Given the description of an element on the screen output the (x, y) to click on. 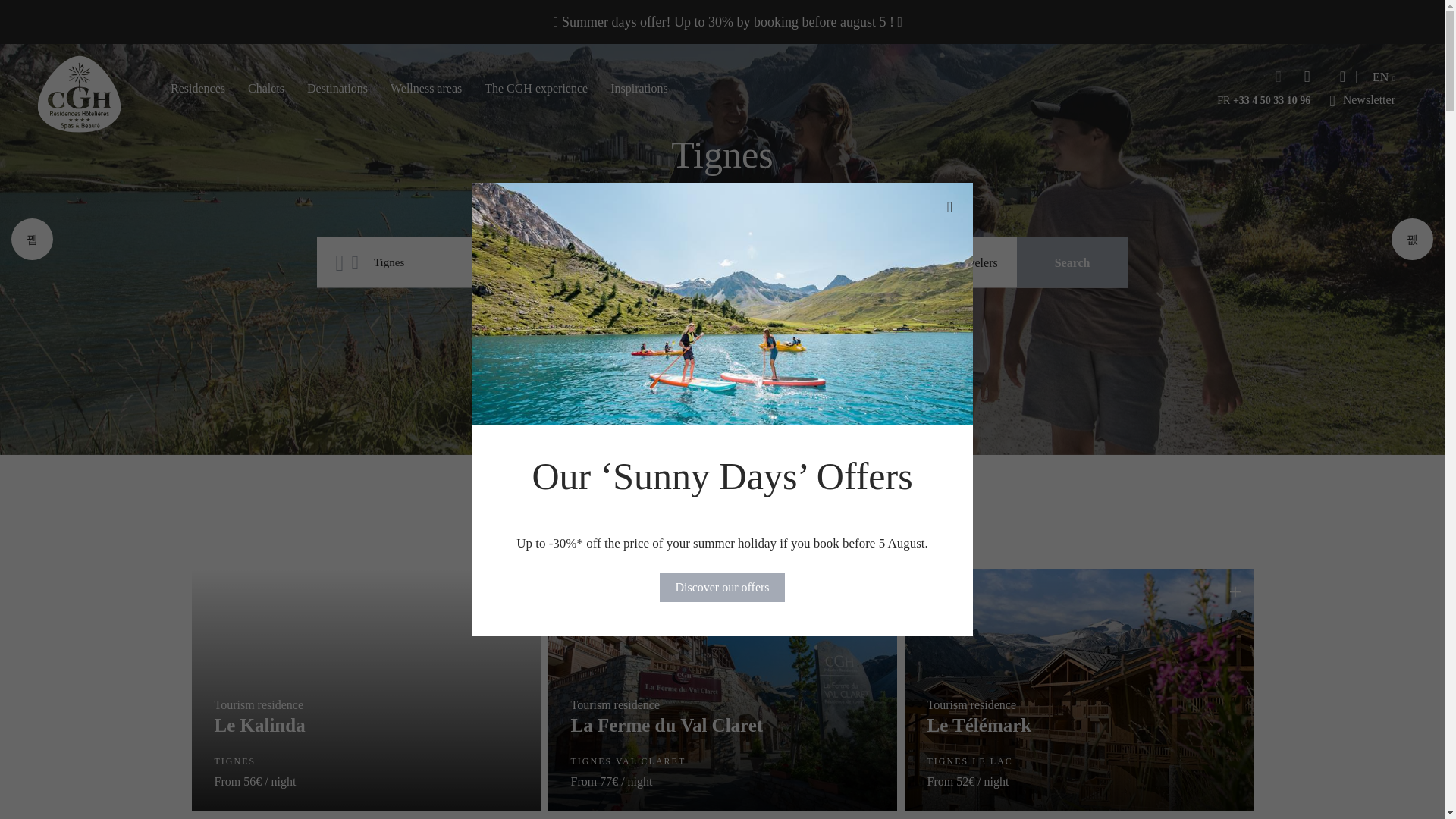
Home (78, 92)
Destinations (336, 89)
Tignes (473, 262)
Search (1072, 261)
2 (943, 261)
